Given the description of an element on the screen output the (x, y) to click on. 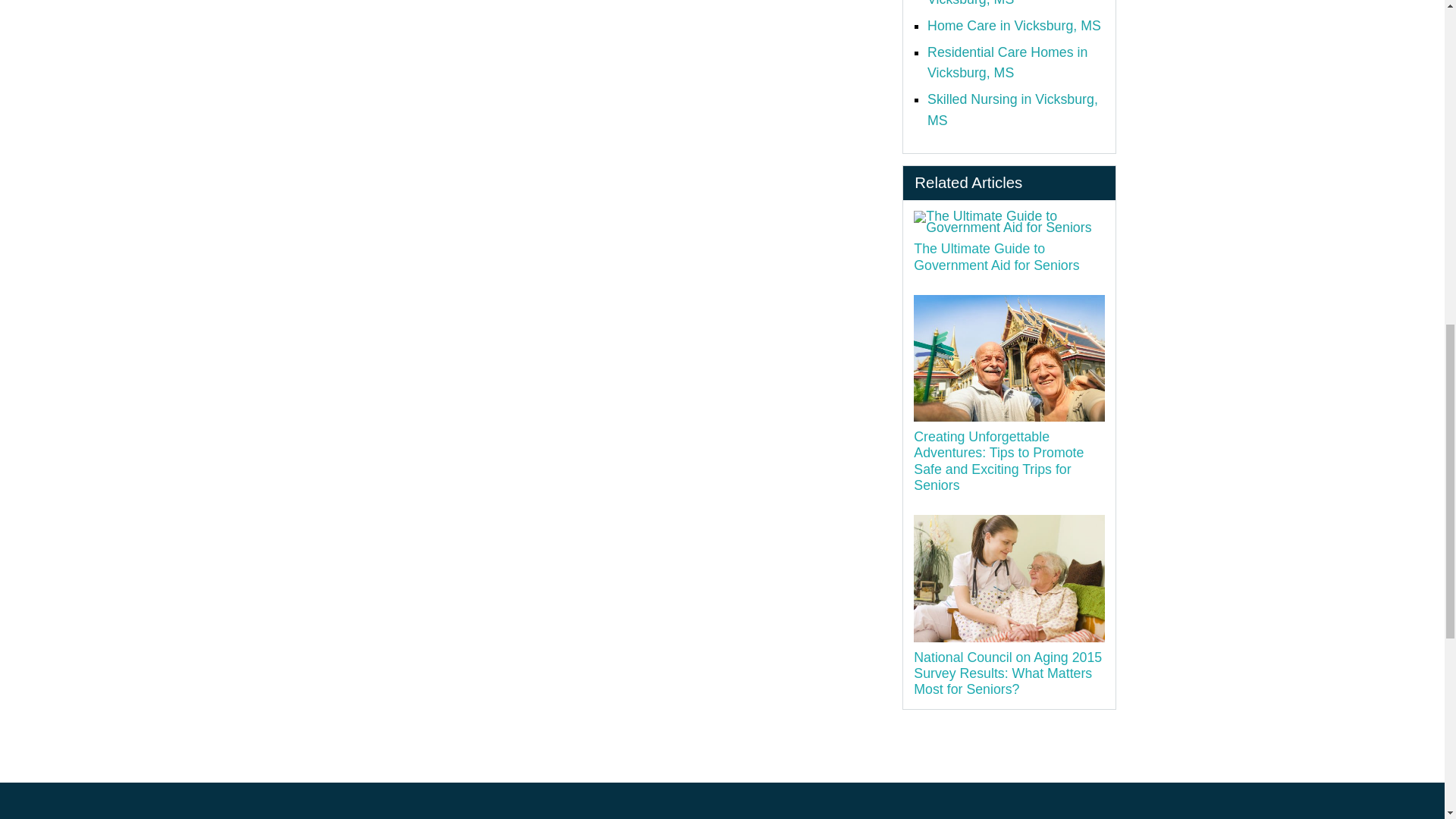
Independent (991, 3)
Home (1013, 25)
Skilled (1012, 109)
The Ultimate Guide to Government Aid for Seniors (1008, 221)
Residential (1007, 63)
